Given the description of an element on the screen output the (x, y) to click on. 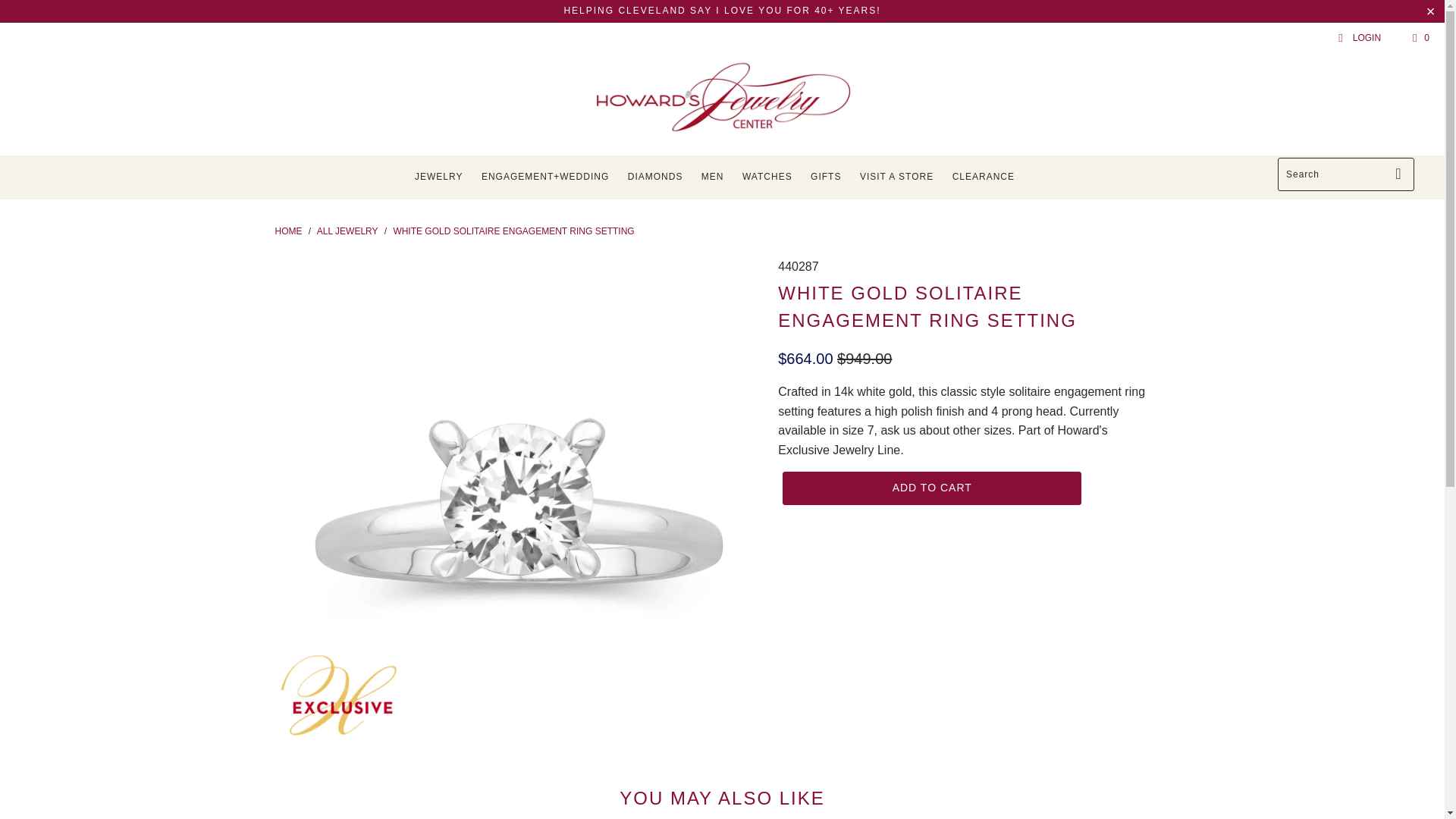
Howard's Jewelry Center (288, 231)
All Jewelry (347, 231)
My Account  (1358, 37)
